Given the description of an element on the screen output the (x, y) to click on. 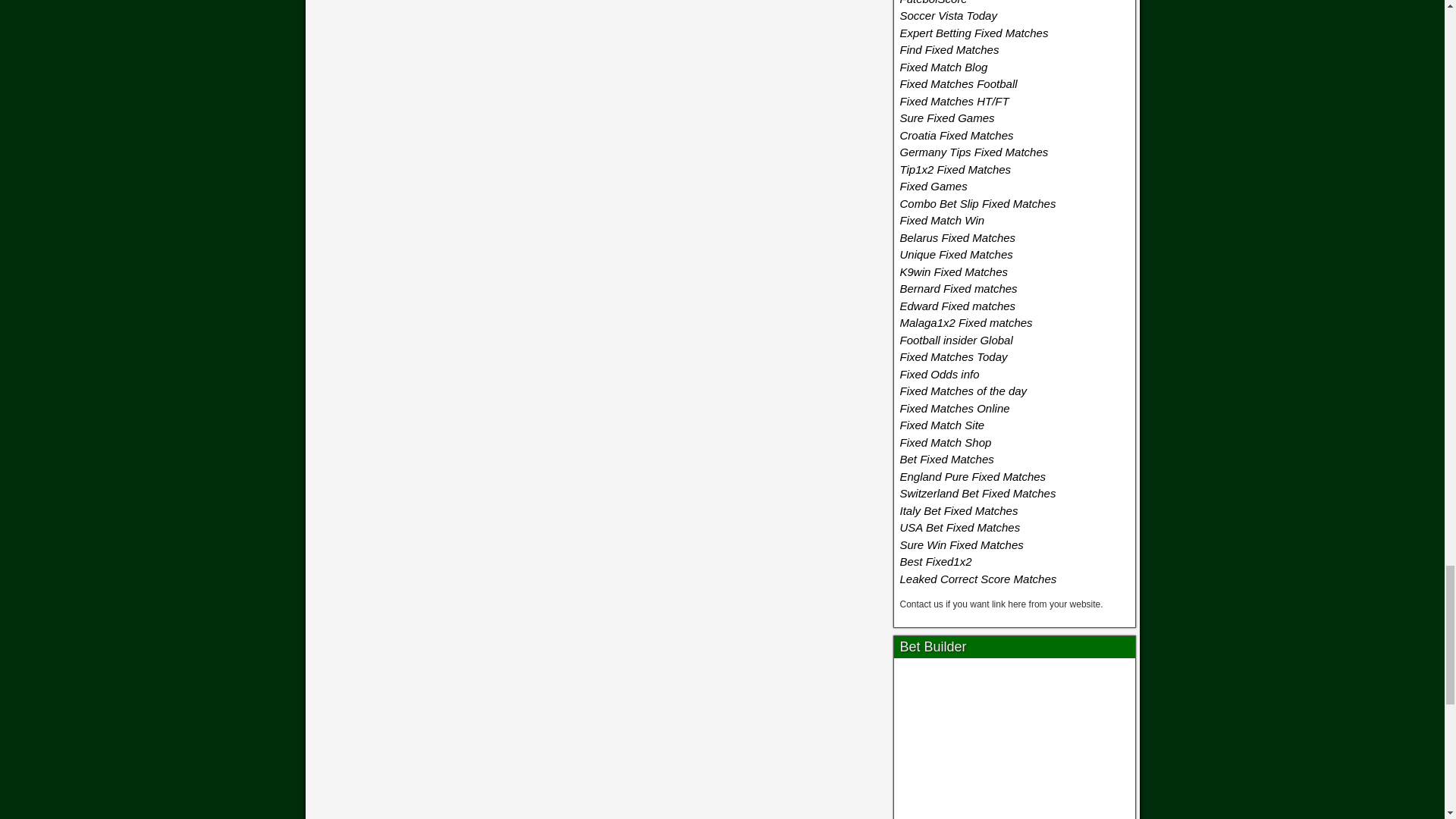
Bet Builder Bet365 Bookie (1014, 741)
